Given the description of an element on the screen output the (x, y) to click on. 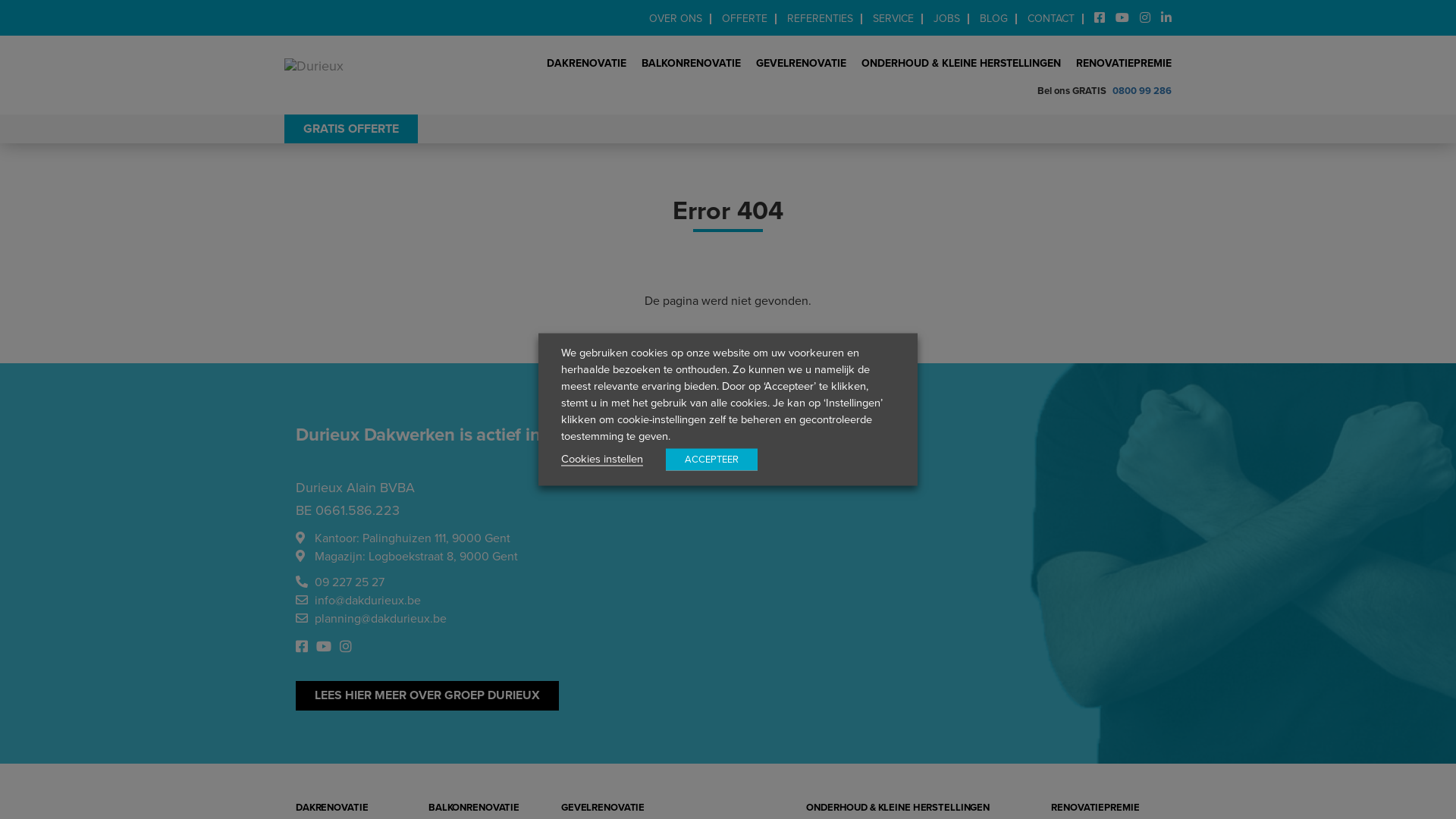
ONDERHOUD & KLEINE HERSTELLINGEN Element type: text (960, 59)
RENOVATIEPREMIE Element type: text (1119, 59)
planning@dakdurieux.be Element type: text (380, 618)
info@dakdurieux.be Element type: text (367, 600)
BLOG Element type: text (994, 18)
0800 99 286 Element type: text (1139, 91)
OVER ONS Element type: text (676, 18)
OFFERTE Element type: text (745, 18)
JOBS Element type: text (947, 18)
SERVICE Element type: text (893, 18)
REFERENTIES Element type: text (820, 18)
BALKONRENOVATIE Element type: text (690, 59)
Cookies instellen Element type: text (602, 458)
GEVELRENOVATIE Element type: text (800, 59)
LEES HIER MEER OVER GROEP DURIEUX Element type: text (426, 695)
ACCEPTEER Element type: text (711, 459)
Durieux Element type: hover (313, 65)
CONTACT Element type: text (1051, 18)
09 227 25 27 Element type: text (349, 581)
DAKRENOVATIE Element type: text (586, 59)
GRATIS OFFERTE Element type: text (350, 128)
